Given the description of an element on the screen output the (x, y) to click on. 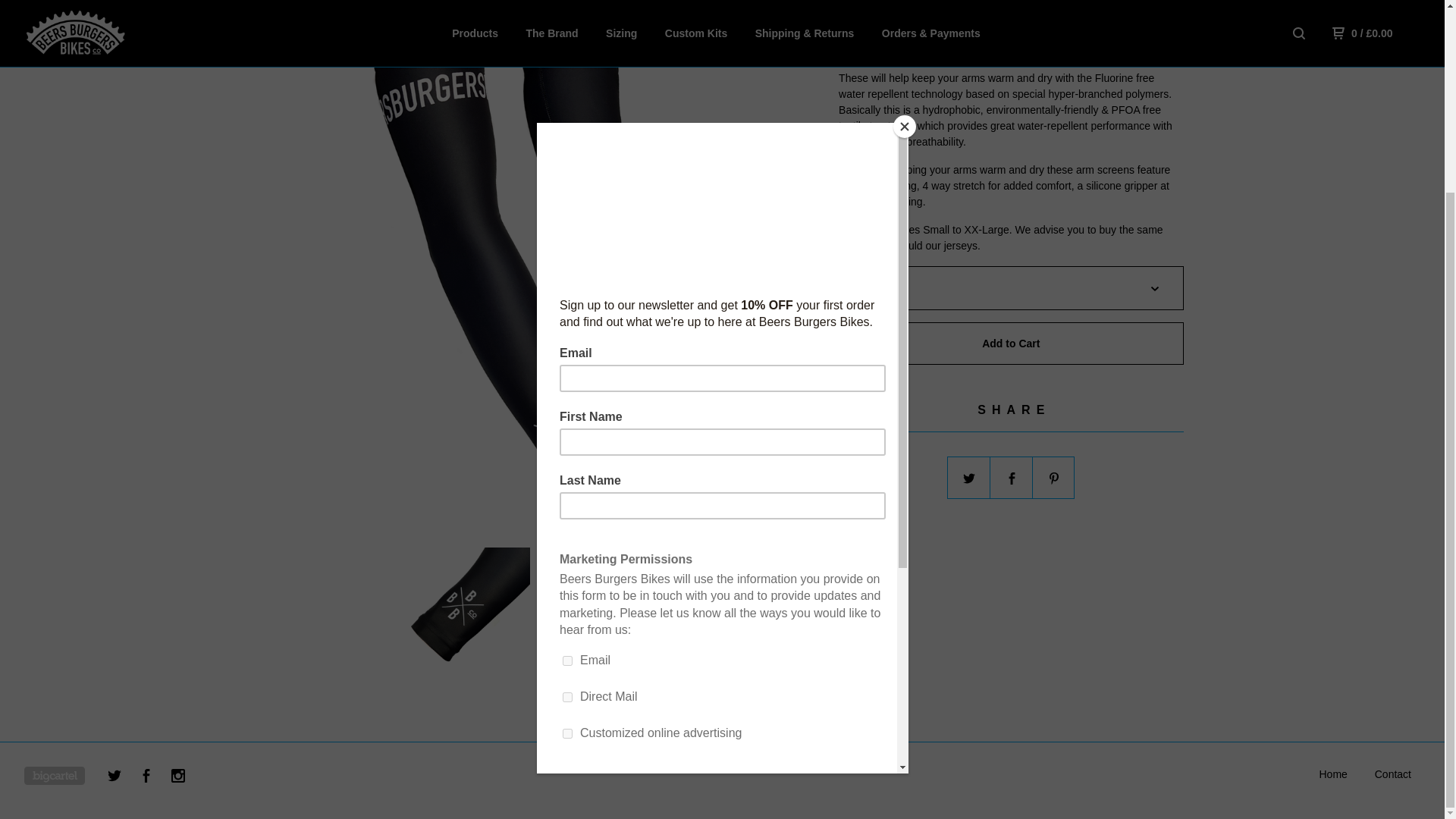
Add to Cart (1010, 343)
Add to Cart (1010, 343)
Pin (1053, 478)
Beers Burgers Bikes (1333, 774)
Follow us on Twitter (115, 778)
Contact (1392, 774)
Contact (1392, 774)
Home (1333, 774)
Powered by Big Cartel (54, 775)
